Given the description of an element on the screen output the (x, y) to click on. 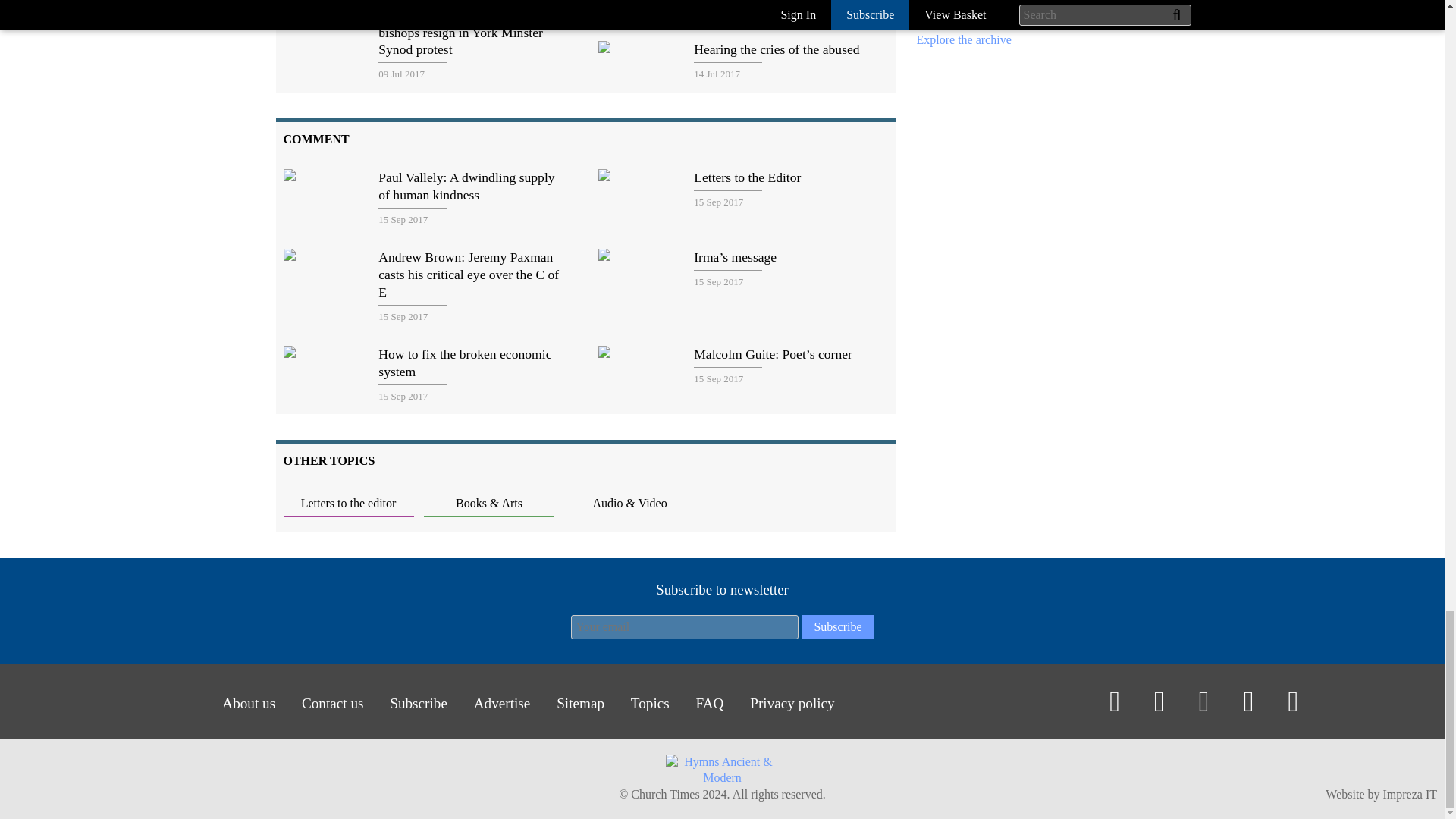
Subscribe (837, 627)
Archive (962, 39)
